Given the description of an element on the screen output the (x, y) to click on. 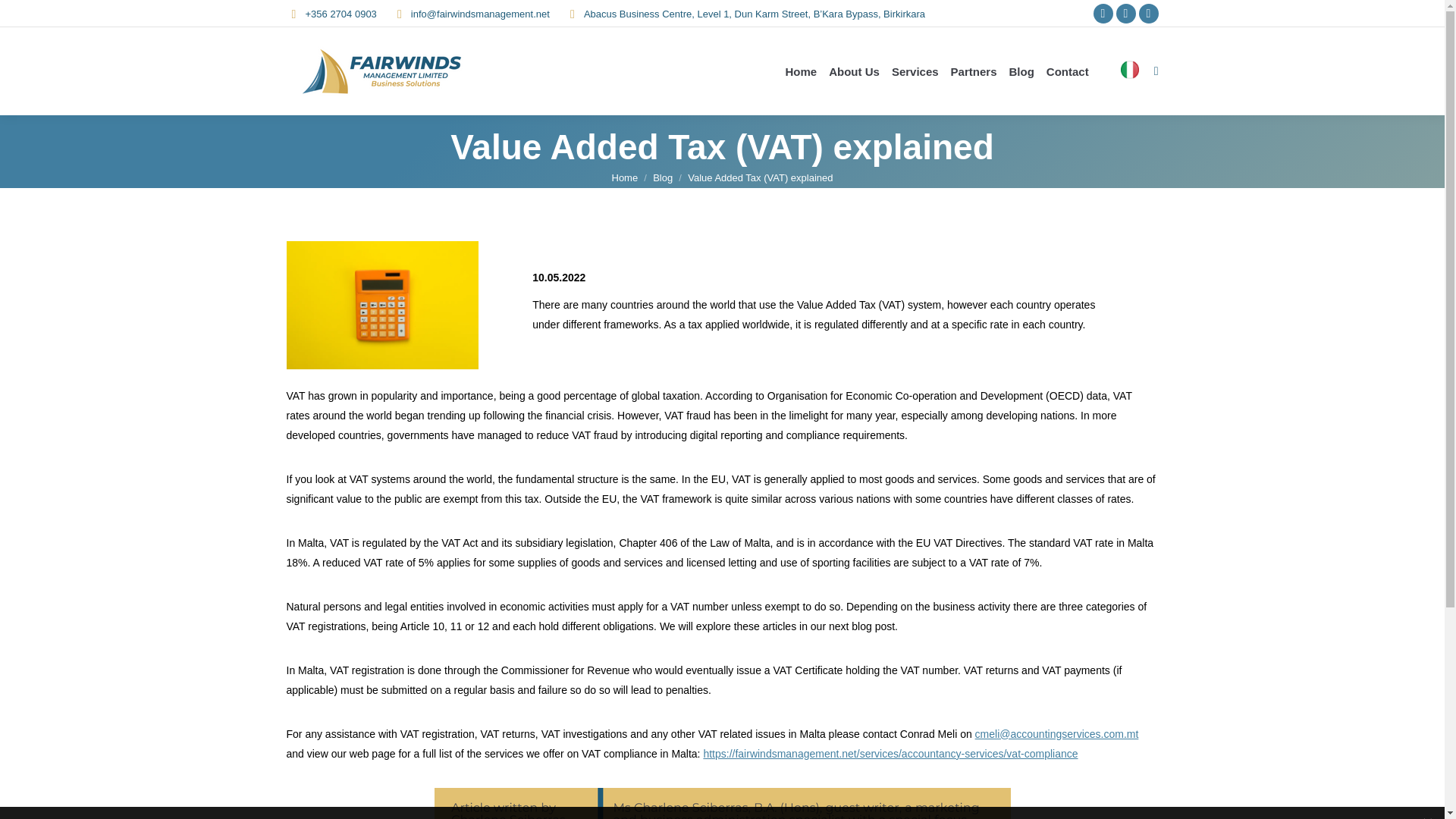
YouTube page opens in new window (1148, 13)
Blog (662, 177)
Linkedin page opens in new window (1125, 13)
Home (624, 177)
Linkedin page opens in new window (1125, 13)
Facebook page opens in new window (1103, 13)
YouTube page opens in new window (1148, 13)
Facebook page opens in new window (1103, 13)
